Given the description of an element on the screen output the (x, y) to click on. 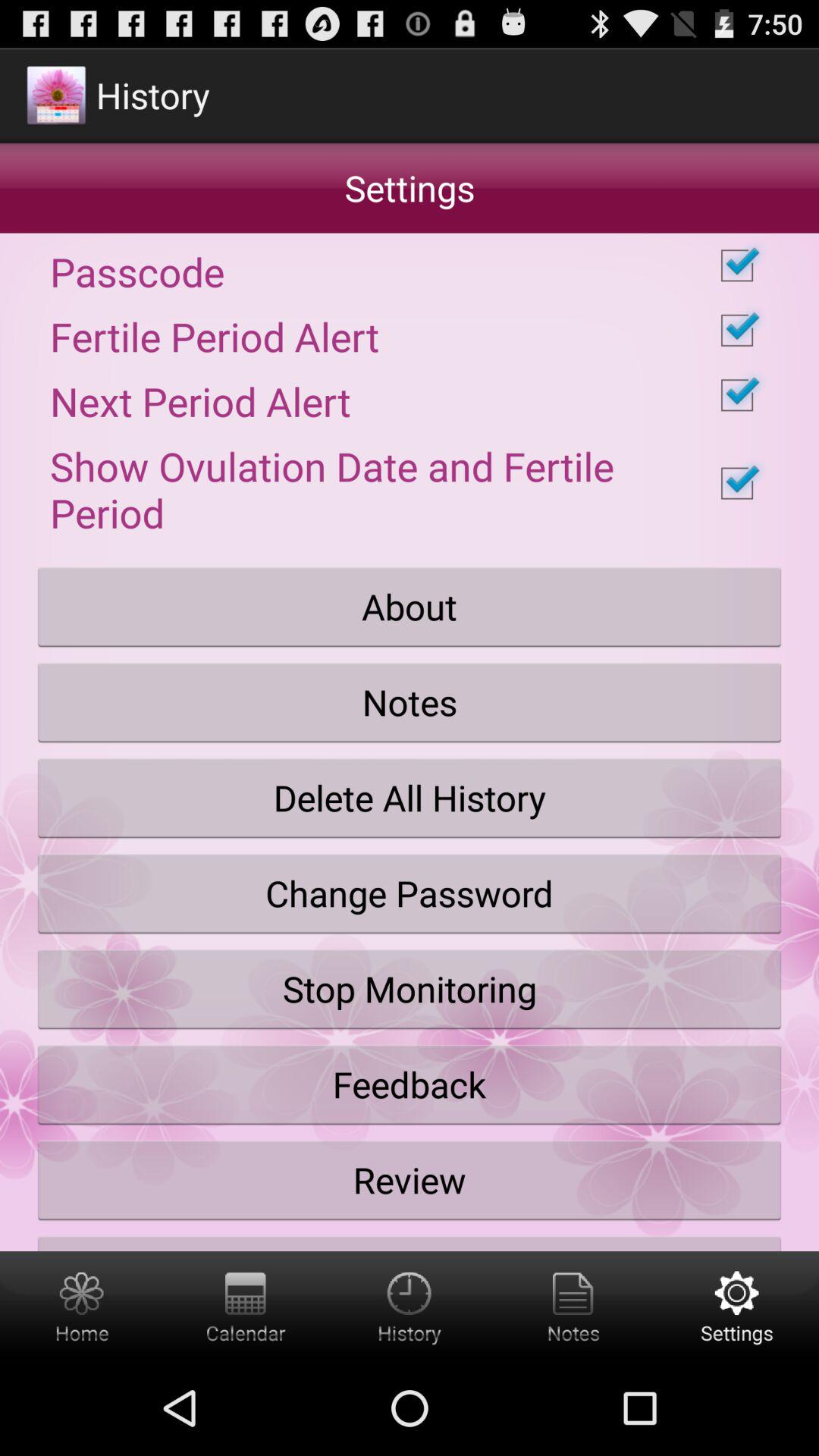
press the icon below settings item (409, 265)
